Given the description of an element on the screen output the (x, y) to click on. 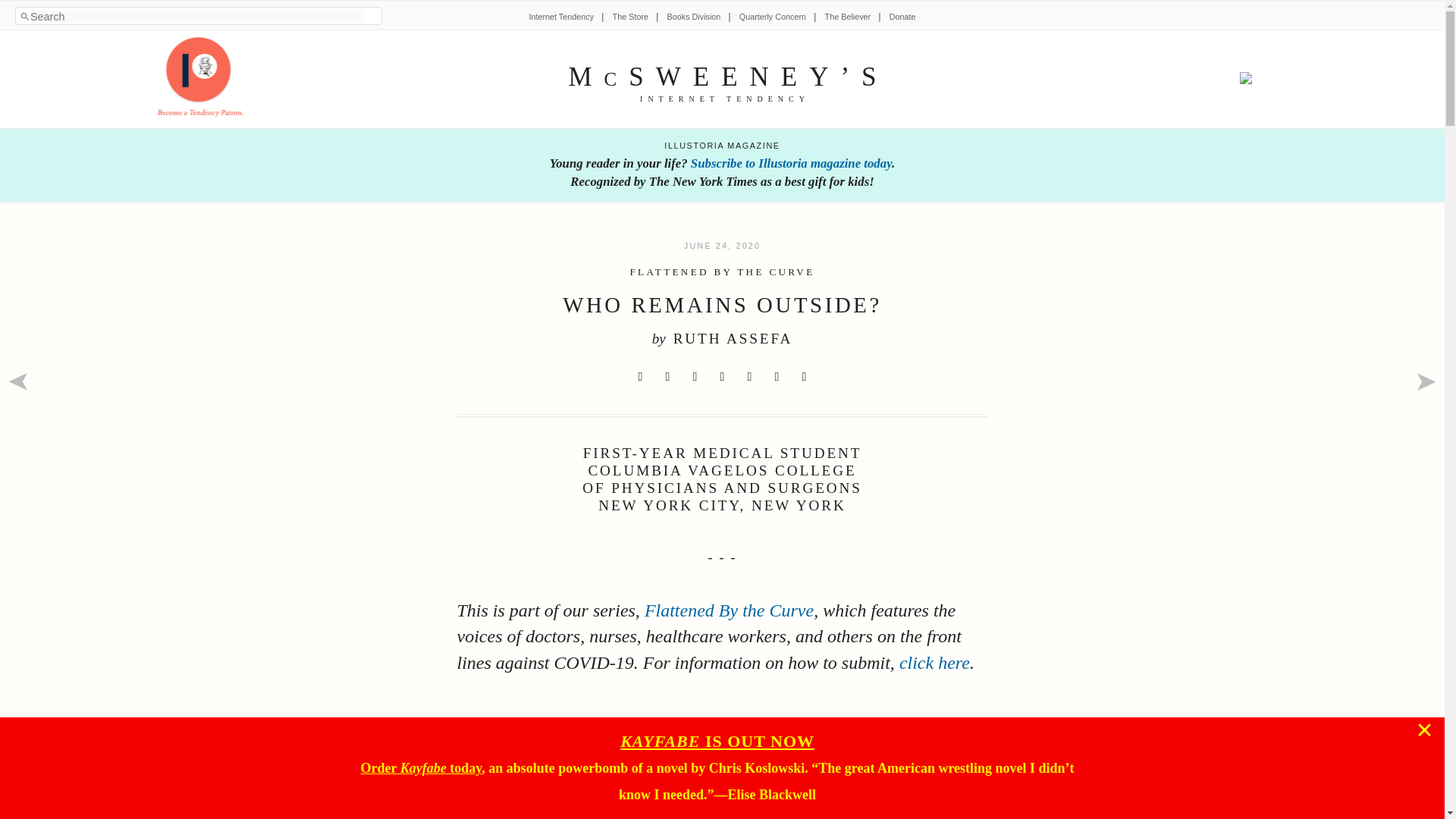
Internet Tendency (561, 16)
Share to Bluesky (722, 376)
Share to Reddit (695, 376)
Share to Facebook (667, 376)
Share to Threads (749, 376)
The Store (629, 16)
Books Division (693, 16)
Subscribe to Illustoria magazine today (790, 163)
The Believer (847, 16)
click here (934, 662)
